Given the description of an element on the screen output the (x, y) to click on. 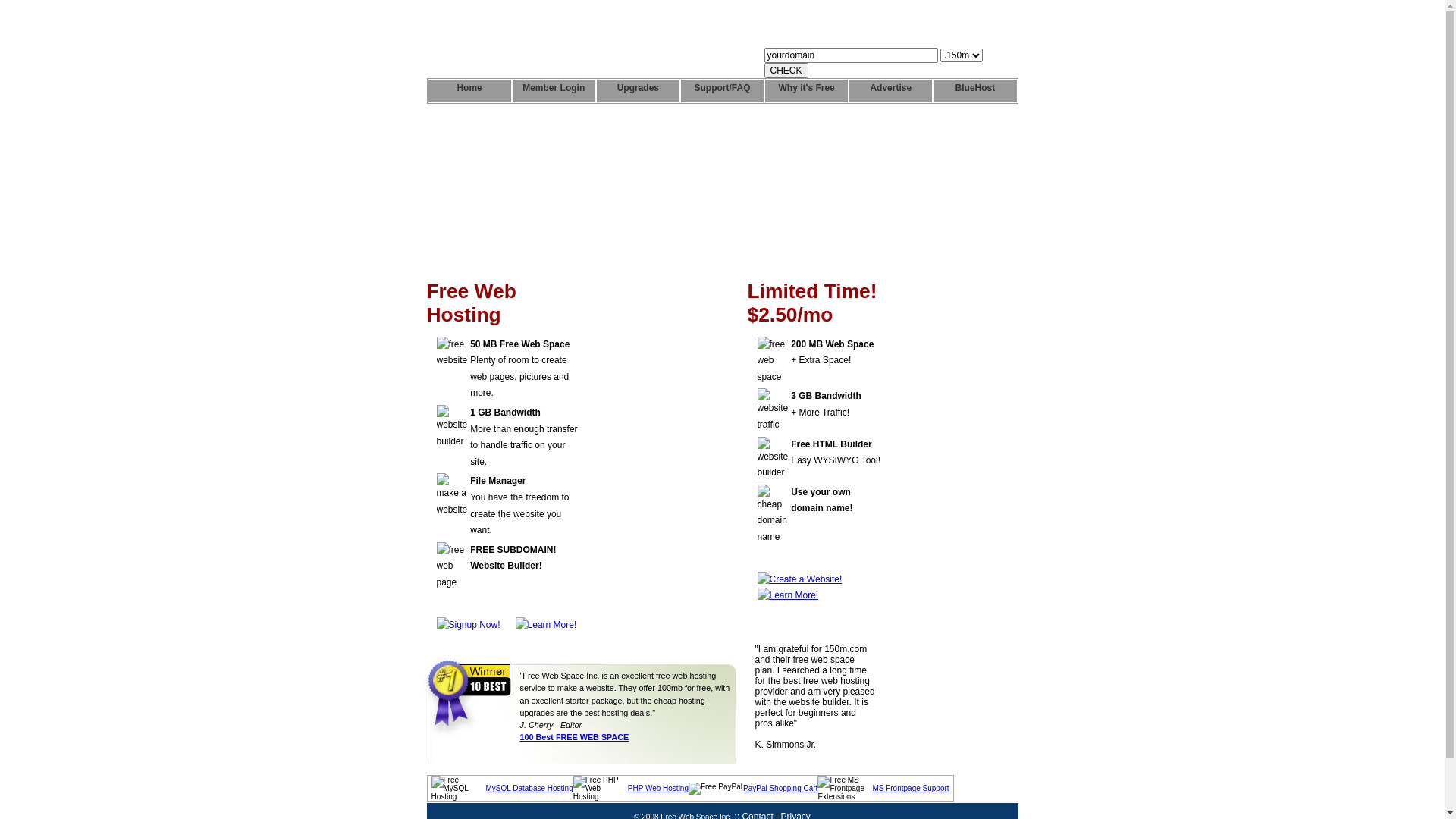
Why it's Free Element type: text (806, 90)
Advertise Element type: text (890, 90)
MySQL Database Hosting Element type: text (528, 788)
CHECK Element type: text (786, 70)
Home Element type: text (468, 90)
Support/FAQ Element type: text (721, 90)
MS Frontpage Support Element type: text (910, 788)
Member Login Element type: text (553, 90)
BlueHost Element type: text (974, 90)
Upgrades Element type: text (637, 90)
PHP Web Hosting Element type: text (657, 788)
PayPal Shopping Cart Element type: text (780, 788)
100 Best FREE WEB SPACE Element type: text (574, 736)
